Given the description of an element on the screen output the (x, y) to click on. 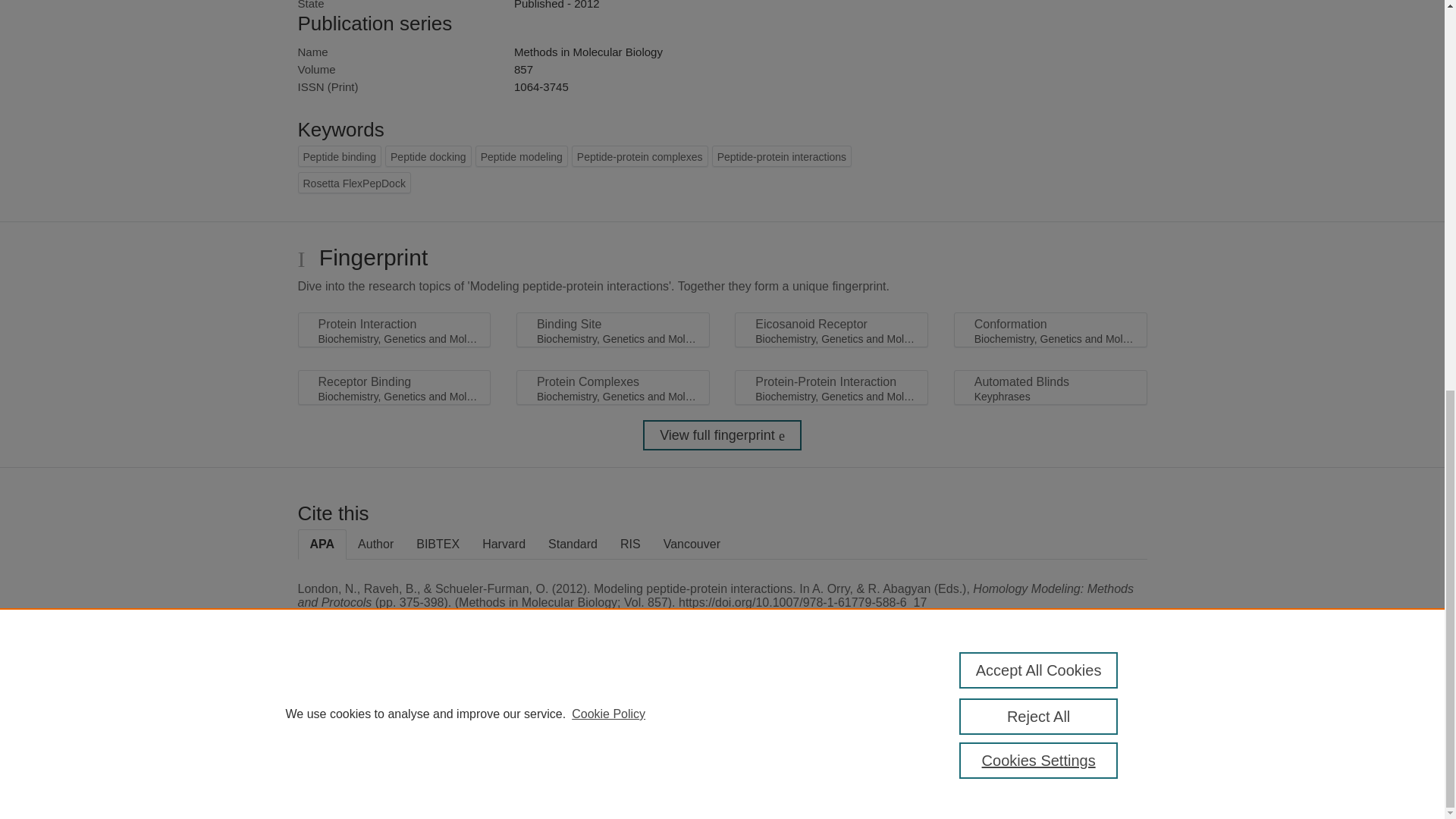
Cookies Settings (1038, 17)
Report vulnerability (1088, 745)
Pure (362, 708)
Scopus (394, 708)
Elsevier B.V. (506, 728)
View full fingerprint (722, 435)
use of cookies (796, 760)
Cookies Settings (334, 781)
About web accessibility (1088, 713)
